Given the description of an element on the screen output the (x, y) to click on. 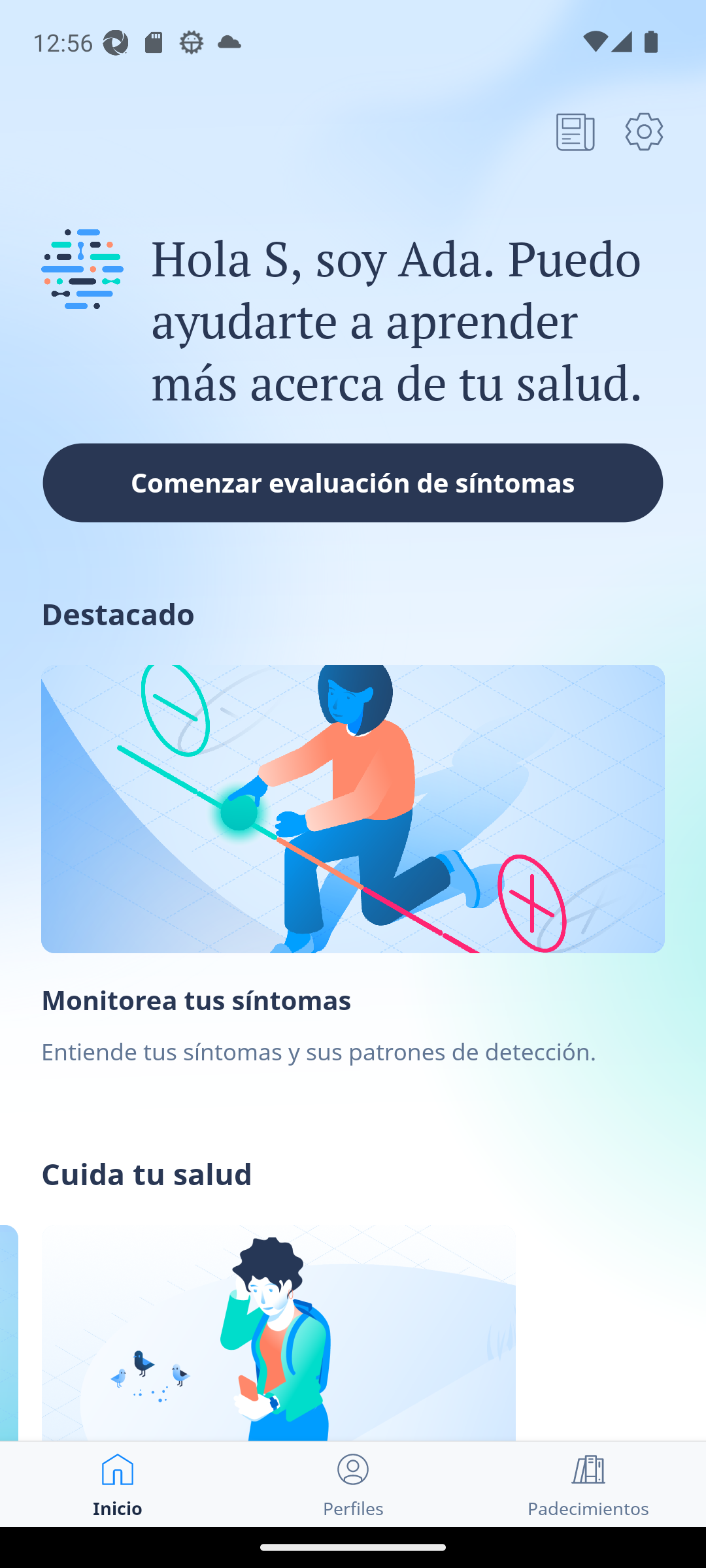
article icon , open articles (574, 131)
settings icon, open settings (644, 131)
Comenzar evaluación de síntomas (352, 482)
Inicio (117, 1484)
Perfiles (352, 1484)
Padecimientos (588, 1484)
